Given the description of an element on the screen output the (x, y) to click on. 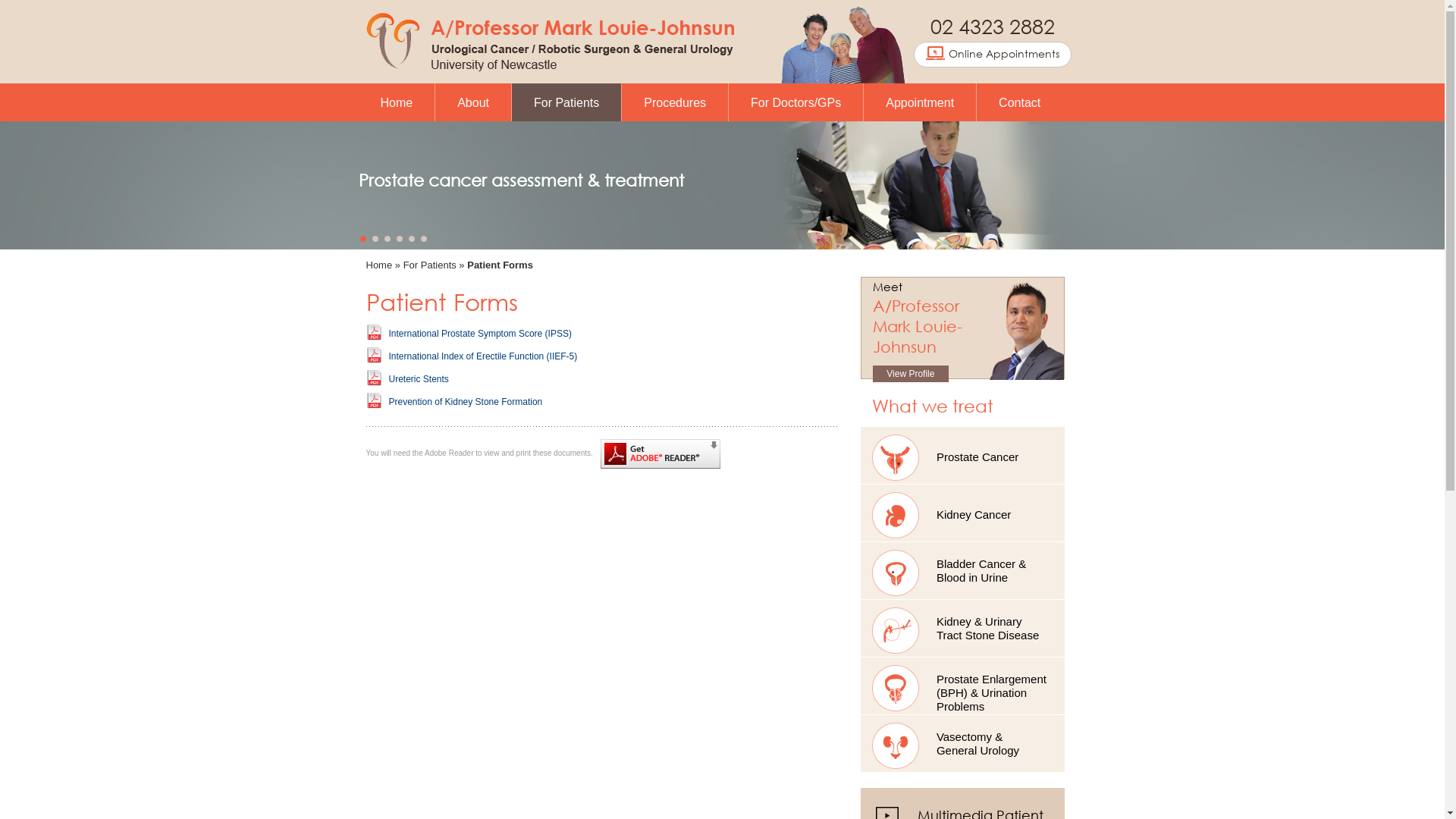
About Element type: text (473, 102)
Kidney & Urinary
Tract Stone Disease Element type: text (962, 627)
Procedures Element type: text (674, 102)
For Patients Element type: text (566, 102)
View Profile Element type: text (910, 373)
International Index of Erectile Function (IIEF-5) Element type: text (482, 356)
Contact Element type: text (1019, 102)
Online Appointments Element type: text (992, 54)
Bladder Cancer &
Blood in Urine Element type: text (962, 570)
Kidney Cancer Element type: text (962, 512)
Vasectomy &
General Urology Element type: text (962, 743)
Appointment Element type: text (919, 102)
For Doctors/GPs Element type: text (795, 102)
Ureteric Stents Element type: text (418, 378)
Home Element type: text (395, 102)
02 4323 2882 Element type: text (991, 24)
Prostate Cancer Element type: text (962, 454)
A/Professor
Mark Louie-Johnsun Element type: text (917, 325)
Prostate Enlargement
(BPH) & Urination
Problems Element type: text (962, 685)
International Prostate Symptom Score (IPSS) Element type: text (479, 333)
Home Element type: text (378, 264)
What we treat Element type: text (932, 405)
For Patients Element type: text (429, 264)
Prostate cancer assessment & treatment Element type: text (520, 179)
Prevention of Kidney Stone Formation Element type: text (465, 401)
